Given the description of an element on the screen output the (x, y) to click on. 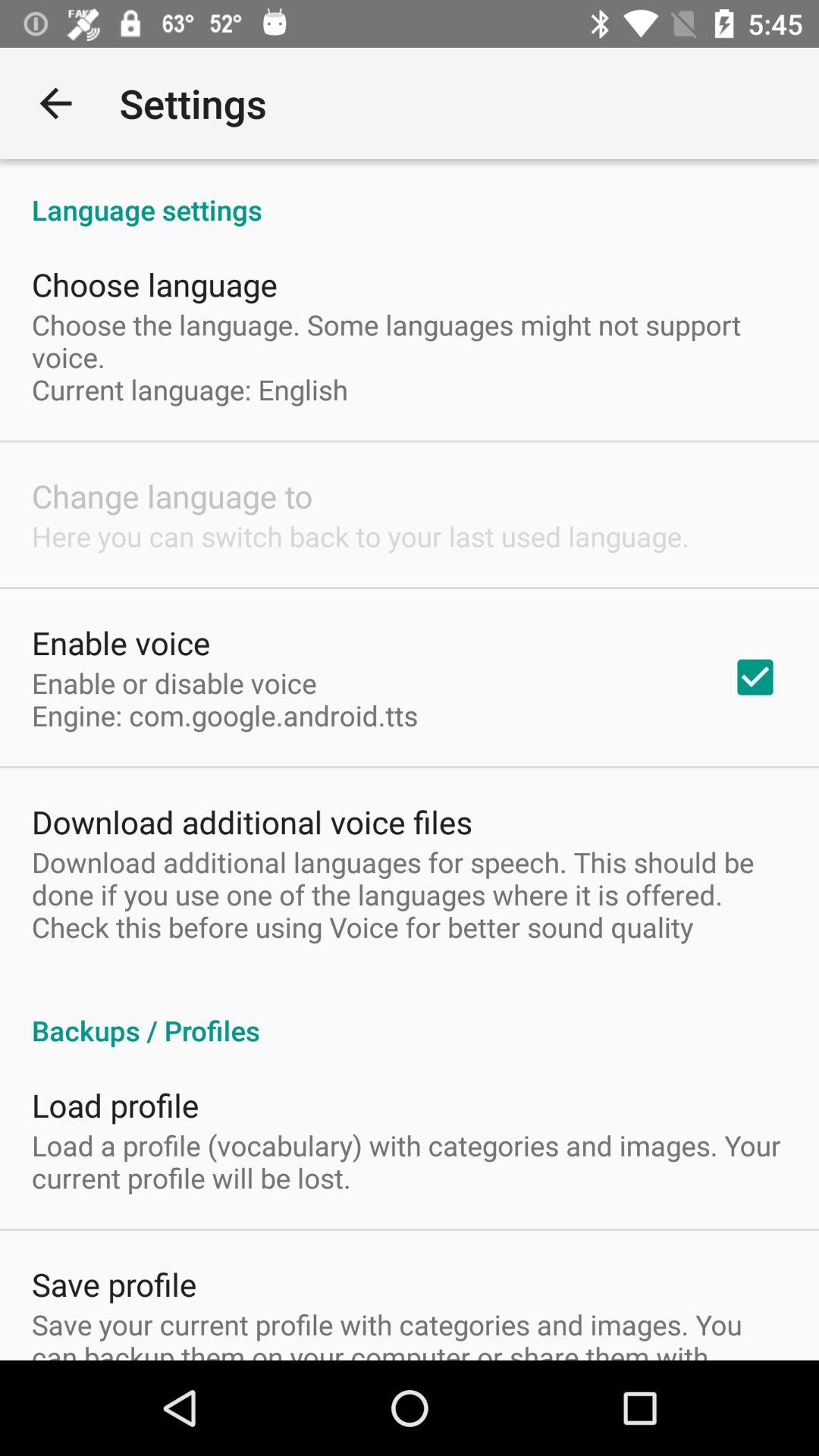
choose backups / profiles item (409, 1014)
